Given the description of an element on the screen output the (x, y) to click on. 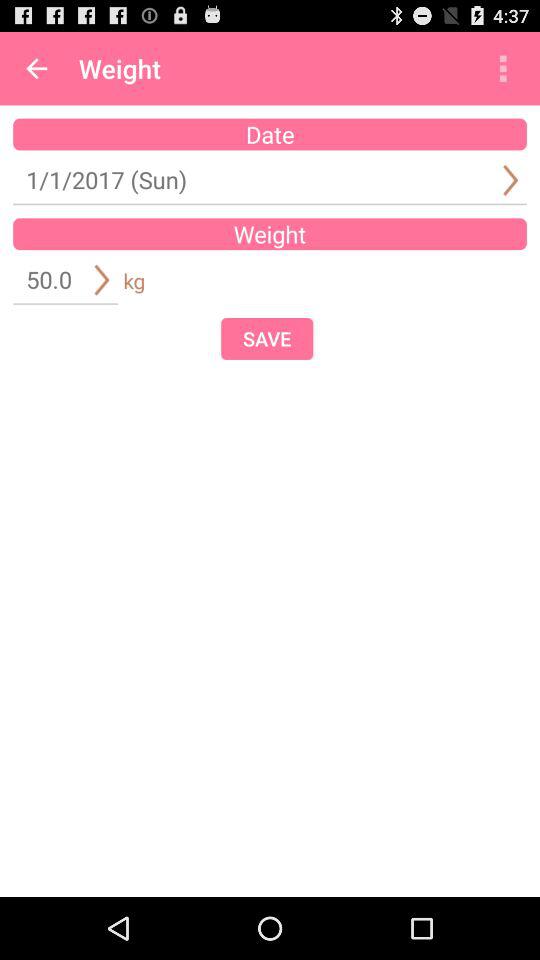
turn on item next to the weight app (36, 68)
